Given the description of an element on the screen output the (x, y) to click on. 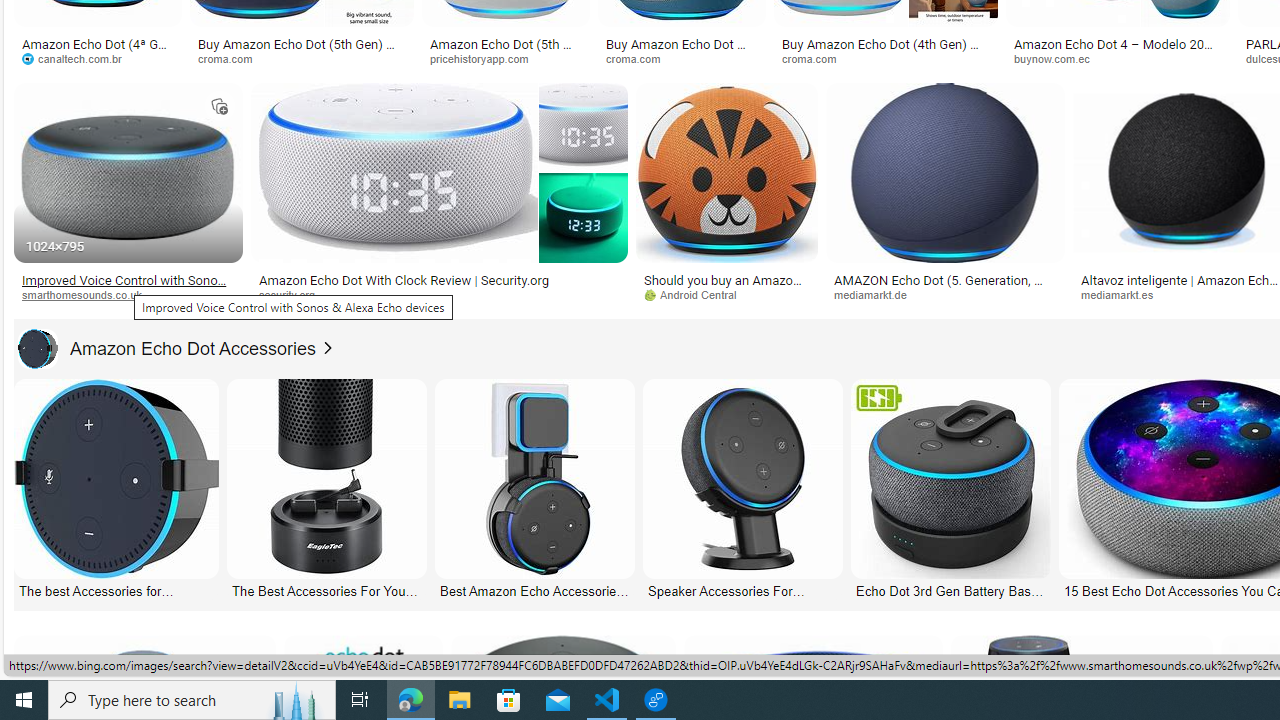
Amazon Echo Dot With Clock Review | Security.org (404, 279)
canaltech.com.br (97, 58)
croma.com (885, 58)
smarthomesounds.co.uk (88, 294)
Image result for Amazon Echo Dot PNG (944, 172)
security.org (294, 294)
